Given the description of an element on the screen output the (x, y) to click on. 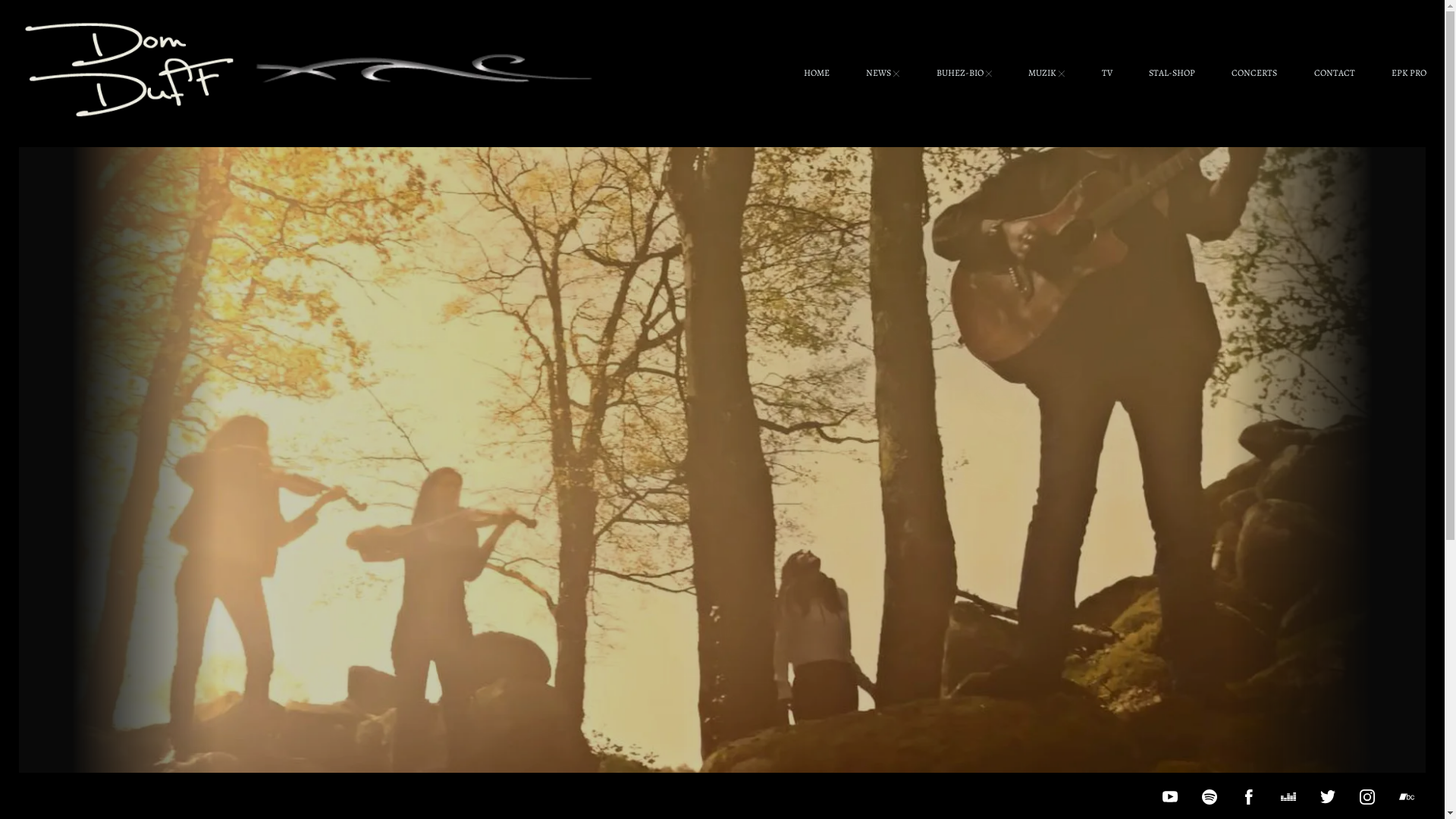
HOME Element type: text (816, 73)
NEWS Element type: text (882, 73)
TV Element type: text (1106, 73)
CONCERTS Element type: text (1254, 73)
http://www.deezer.com/album/14201322 Element type: hover (1287, 795)
http://bit.ly/DomDuffTV Element type: hover (1169, 795)
https://domduff.bandcamp.com/ Element type: hover (1406, 795)
https://www.facebook.com/domduff.music Element type: hover (1248, 795)
MUZIK Element type: text (1046, 73)
EPK PRO Element type: text (1408, 73)
https://twitter.com/domduff Element type: hover (1327, 795)
https://instagram.com/domduff Element type: hover (1366, 795)
BUHEZ-BIO Element type: text (963, 73)
STAL-SHOP Element type: text (1171, 73)
CONTACT Element type: text (1334, 73)
